Given the description of an element on the screen output the (x, y) to click on. 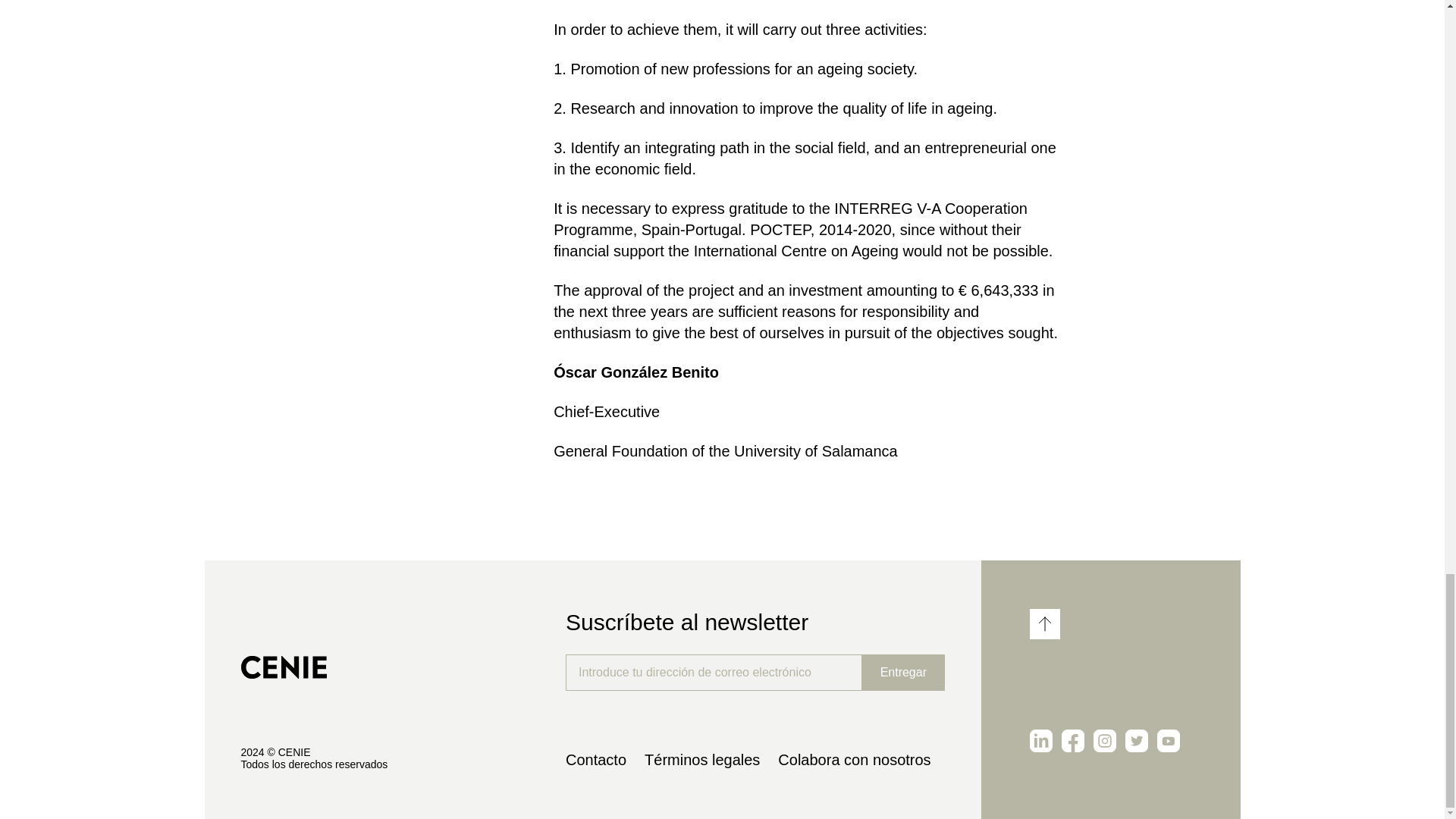
Entregar (902, 672)
